Given the description of an element on the screen output the (x, y) to click on. 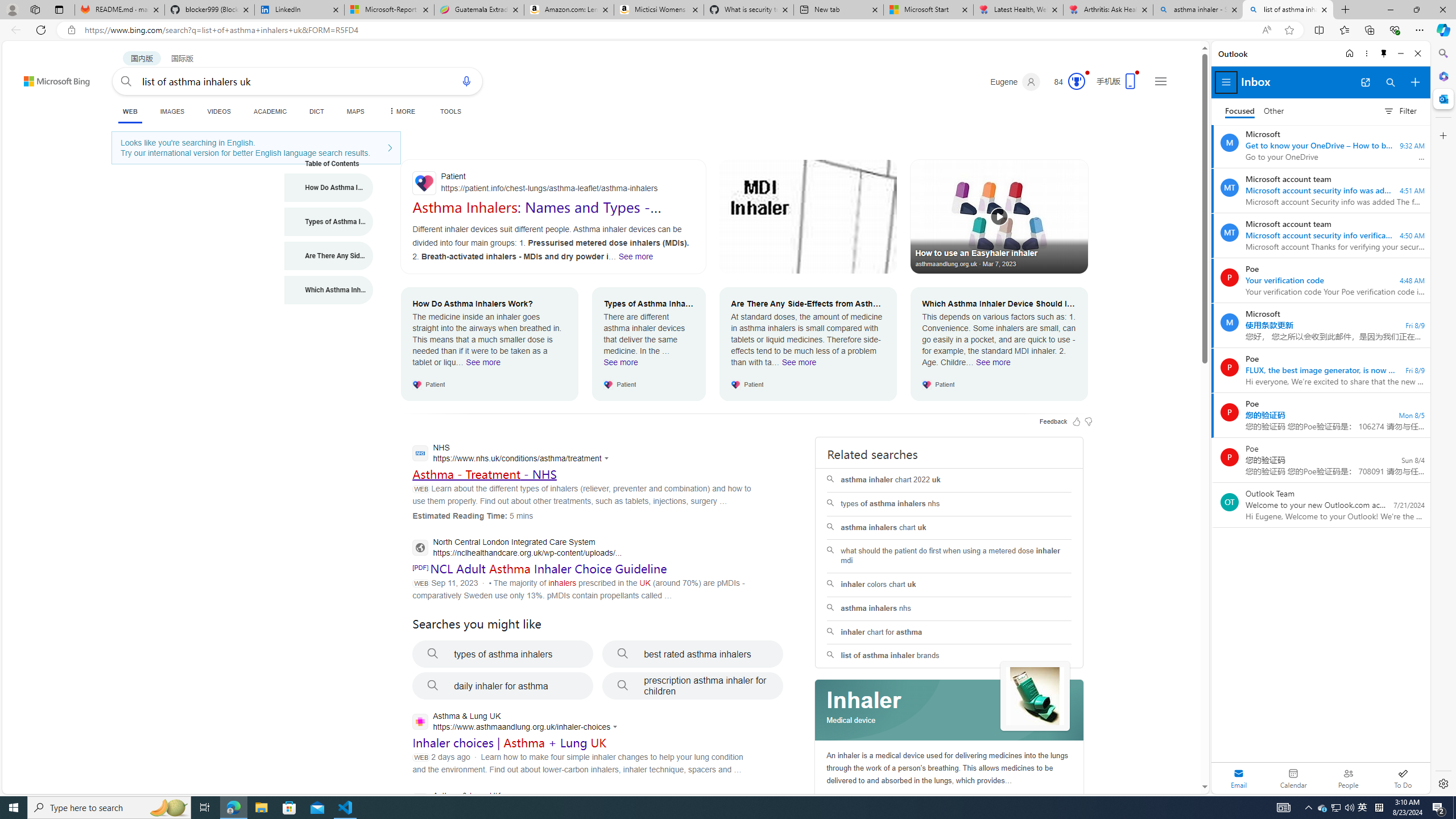
Settings and quick links (1160, 80)
Selected mail module (1238, 777)
Types of Asthma Inhalers (328, 221)
Search using voice (465, 80)
DICT (316, 111)
How Do Asthma Inhalers Work? (328, 187)
best rated asthma inhalers (692, 653)
Open in new tab (1365, 82)
